Given the description of an element on the screen output the (x, y) to click on. 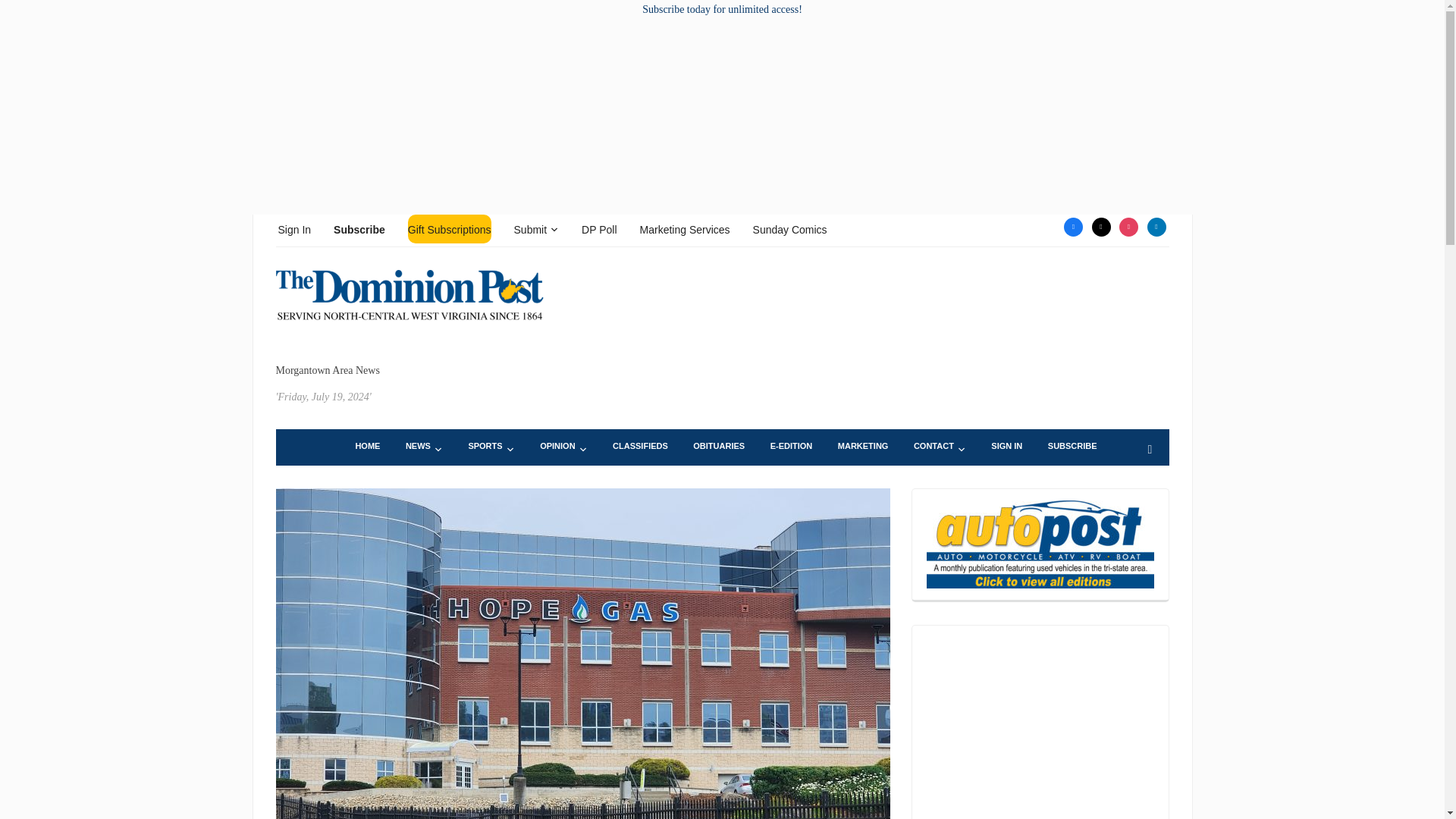
3rd party ad content (1040, 728)
Instagram (1128, 225)
Twitter (1101, 225)
3rd party ad content (893, 315)
Facebook (1073, 225)
